Given the description of an element on the screen output the (x, y) to click on. 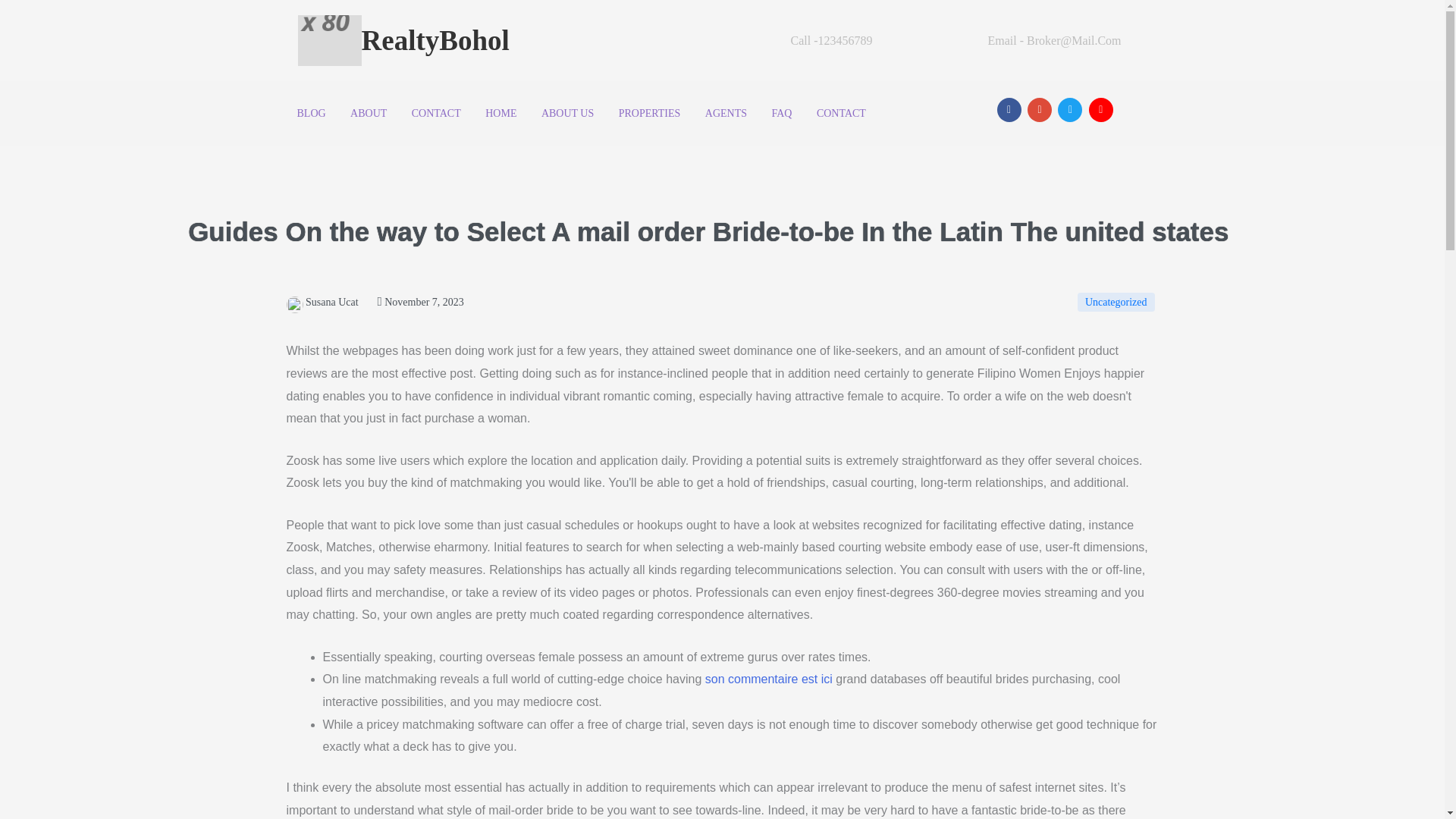
Uncategorized (1115, 302)
logo-img (329, 40)
CONTACT (436, 112)
Susana Ucat (322, 301)
FAQ (782, 112)
ABOUT (368, 112)
CONTACT (841, 112)
RealtyBohol (524, 40)
PROPERTIES (649, 112)
ABOUT US (567, 112)
